Given the description of an element on the screen output the (x, y) to click on. 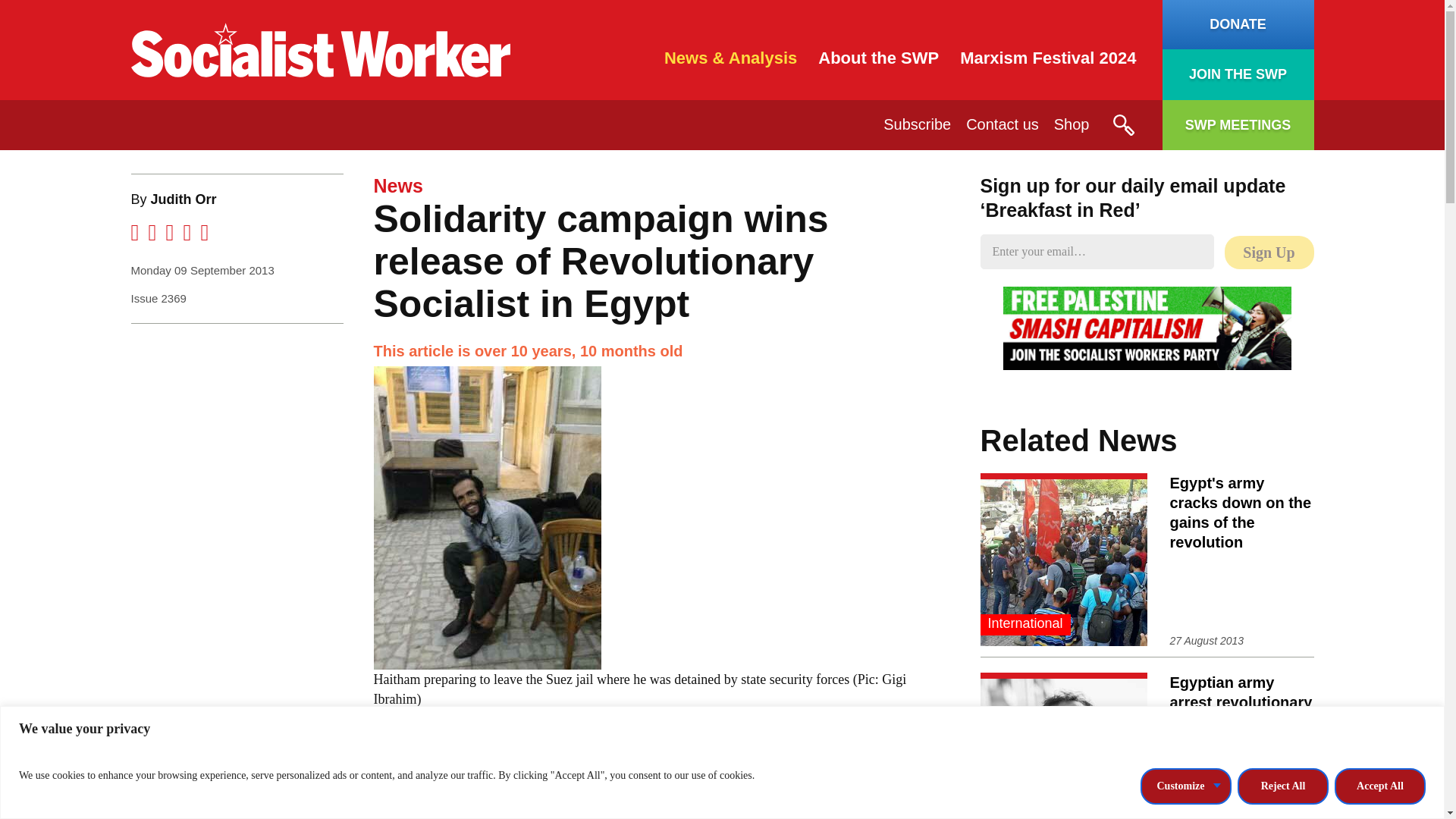
Search Button (1123, 124)
Reject All (1282, 785)
Customize (1185, 785)
Sign Up (1268, 252)
Marxism Festival 2024 (1047, 57)
About the SWP (878, 57)
Accept All (1380, 785)
About the SWP (878, 57)
